Given the description of an element on the screen output the (x, y) to click on. 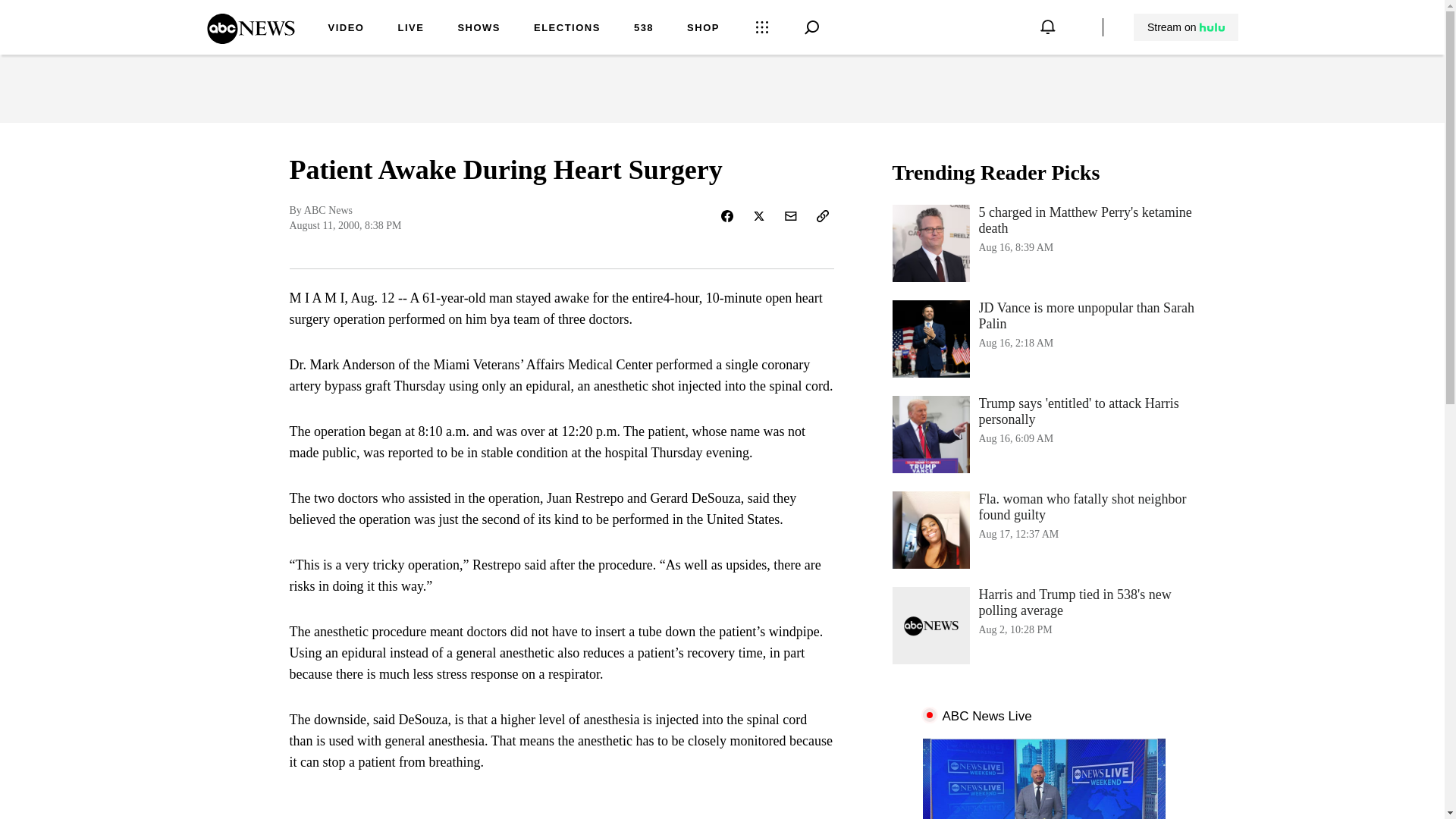
LIVE (410, 28)
Stream on (1185, 27)
Stream on (1186, 26)
SHOP (703, 28)
ABC News (250, 38)
VIDEO (345, 28)
SHOWS (478, 28)
